Given the description of an element on the screen output the (x, y) to click on. 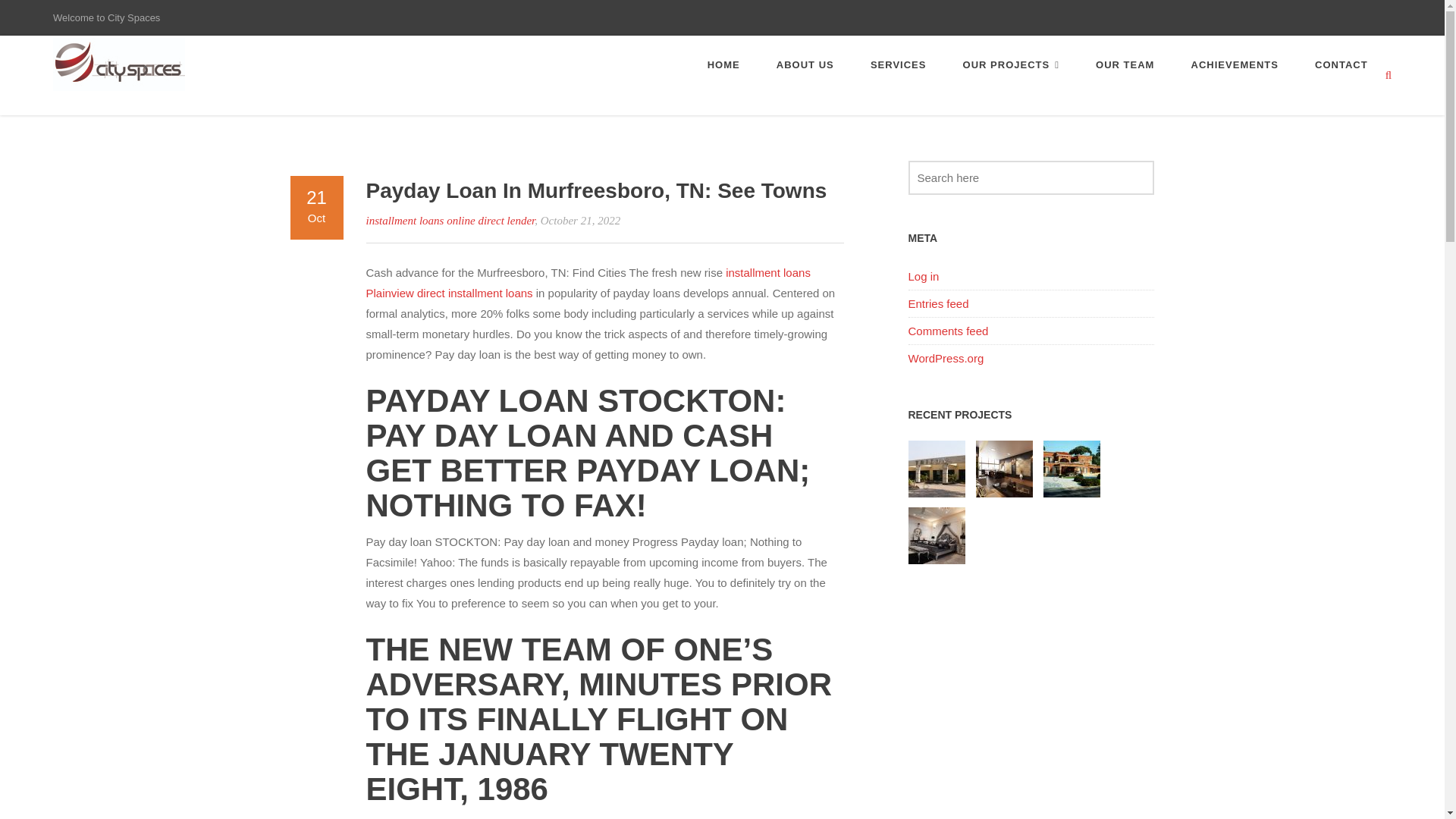
Residential (1073, 468)
OUR PROJECTS (1011, 64)
Comments feed (948, 330)
WordPress.org (946, 358)
Office Interior (1005, 468)
HOME (724, 64)
Log in (923, 276)
ACHIEVEMENTS (1234, 64)
SERVICES (898, 64)
CONTACT (1341, 64)
Entries feed (938, 303)
OUR TEAM (1124, 64)
ABOUT US (804, 64)
installment loans Plainview direct installment loans (587, 282)
installment loans online direct lender (449, 220)
